Given the description of an element on the screen output the (x, y) to click on. 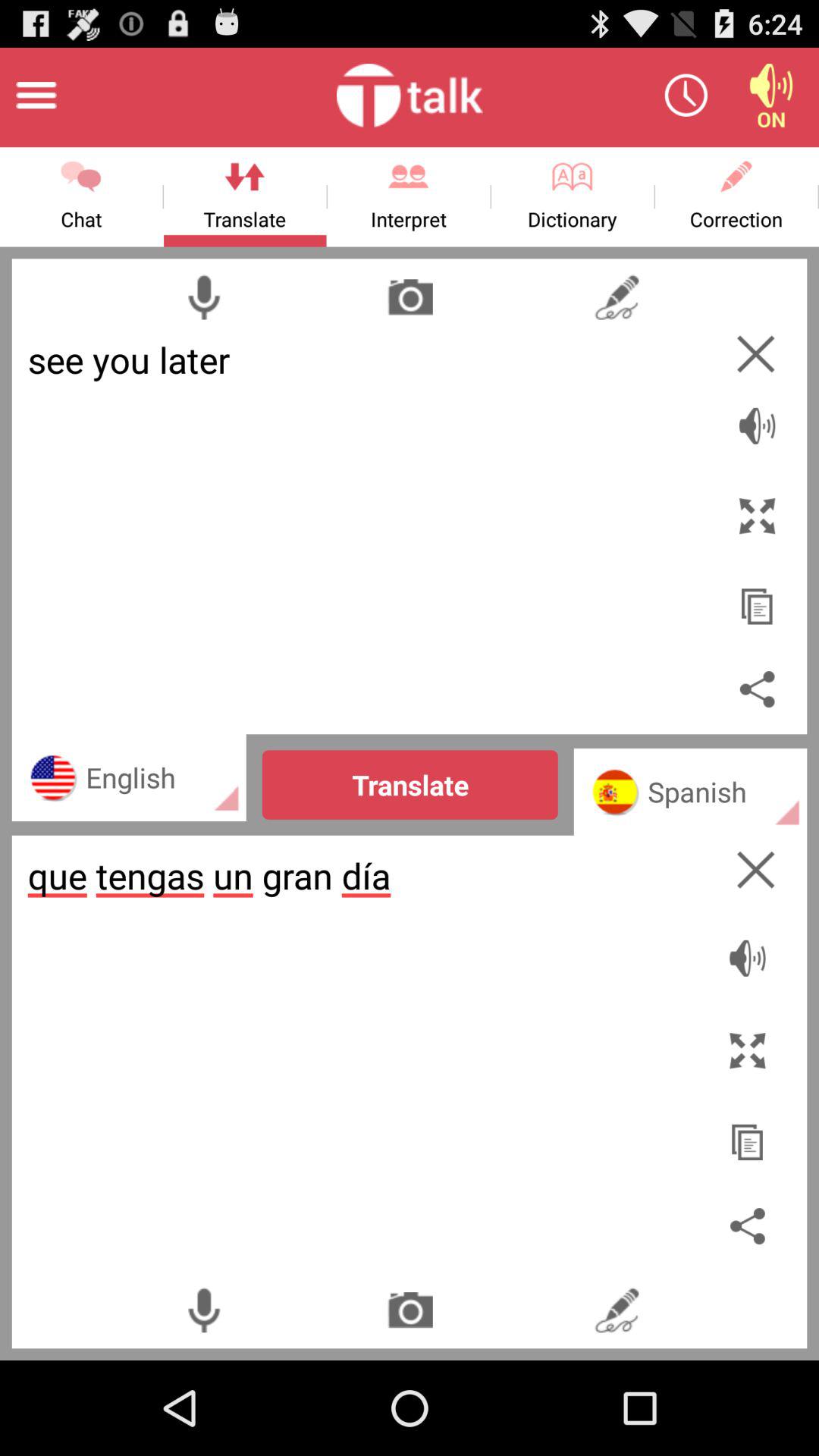
handwriting tool that enables a box where you can write by hand each character instead of typing it (616, 296)
